Given the description of an element on the screen output the (x, y) to click on. 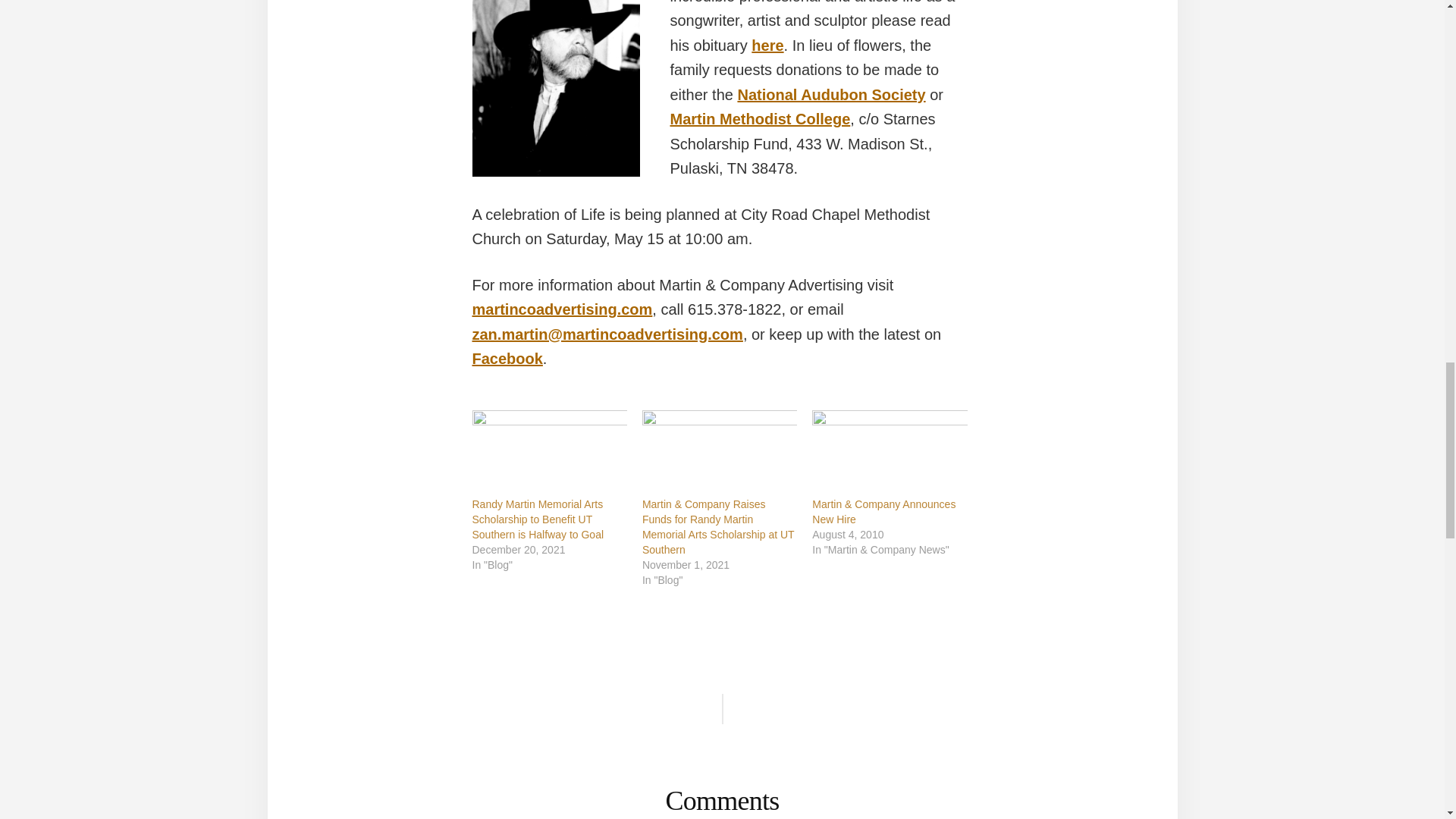
Martin Methodist College (759, 118)
Facebook (506, 358)
martincoadvertising.com (561, 309)
National Audubon Society (830, 94)
here (767, 45)
